Given the description of an element on the screen output the (x, y) to click on. 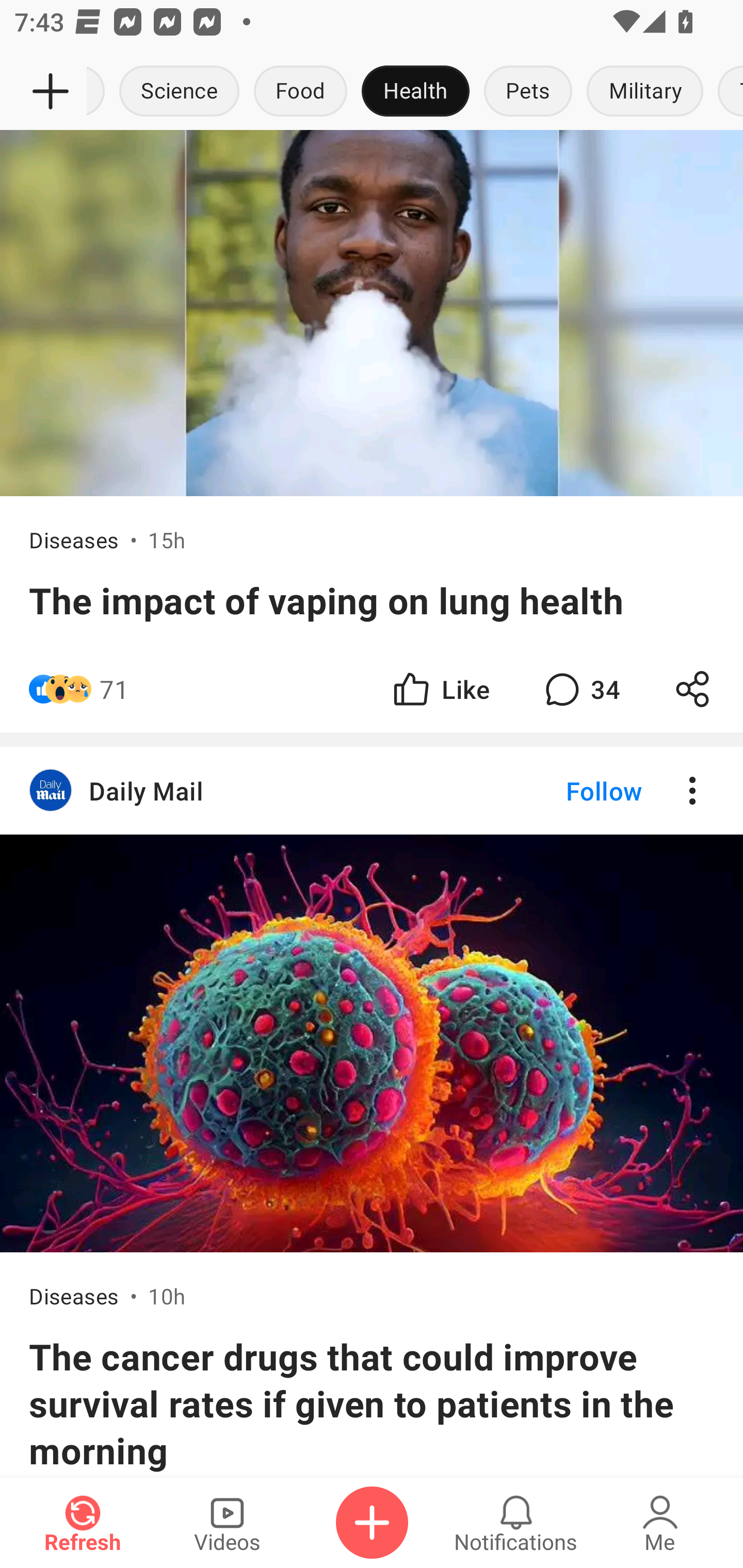
Science (179, 91)
Food (300, 91)
Health (415, 91)
Pets (528, 91)
Military (644, 91)
71 (114, 689)
Like (439, 689)
34 (579, 689)
Daily Mail Follow (371, 790)
Follow (569, 790)
Videos (227, 1522)
Notifications (516, 1522)
Me (659, 1522)
